Given the description of an element on the screen output the (x, y) to click on. 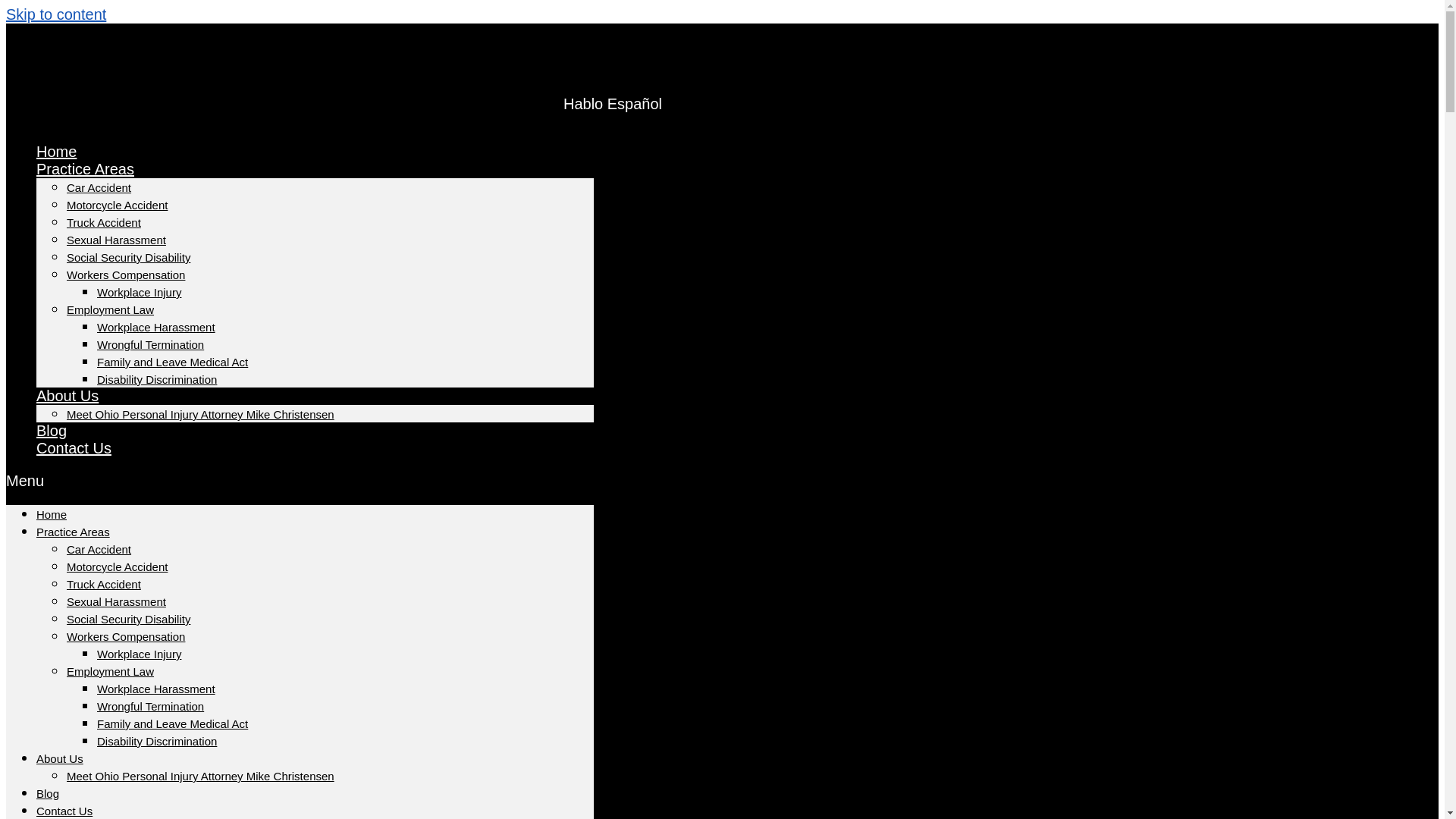
Practice Areas (84, 168)
Social Security Disability (128, 256)
Car Accident (98, 549)
Wrongful Termination (150, 706)
Truck Accident (103, 222)
Car Accident (98, 187)
Meet Ohio Personal Injury Attorney Mike Christensen (200, 413)
Workplace Injury (138, 291)
Workers Compensation (125, 635)
Employment Law (110, 671)
